Given the description of an element on the screen output the (x, y) to click on. 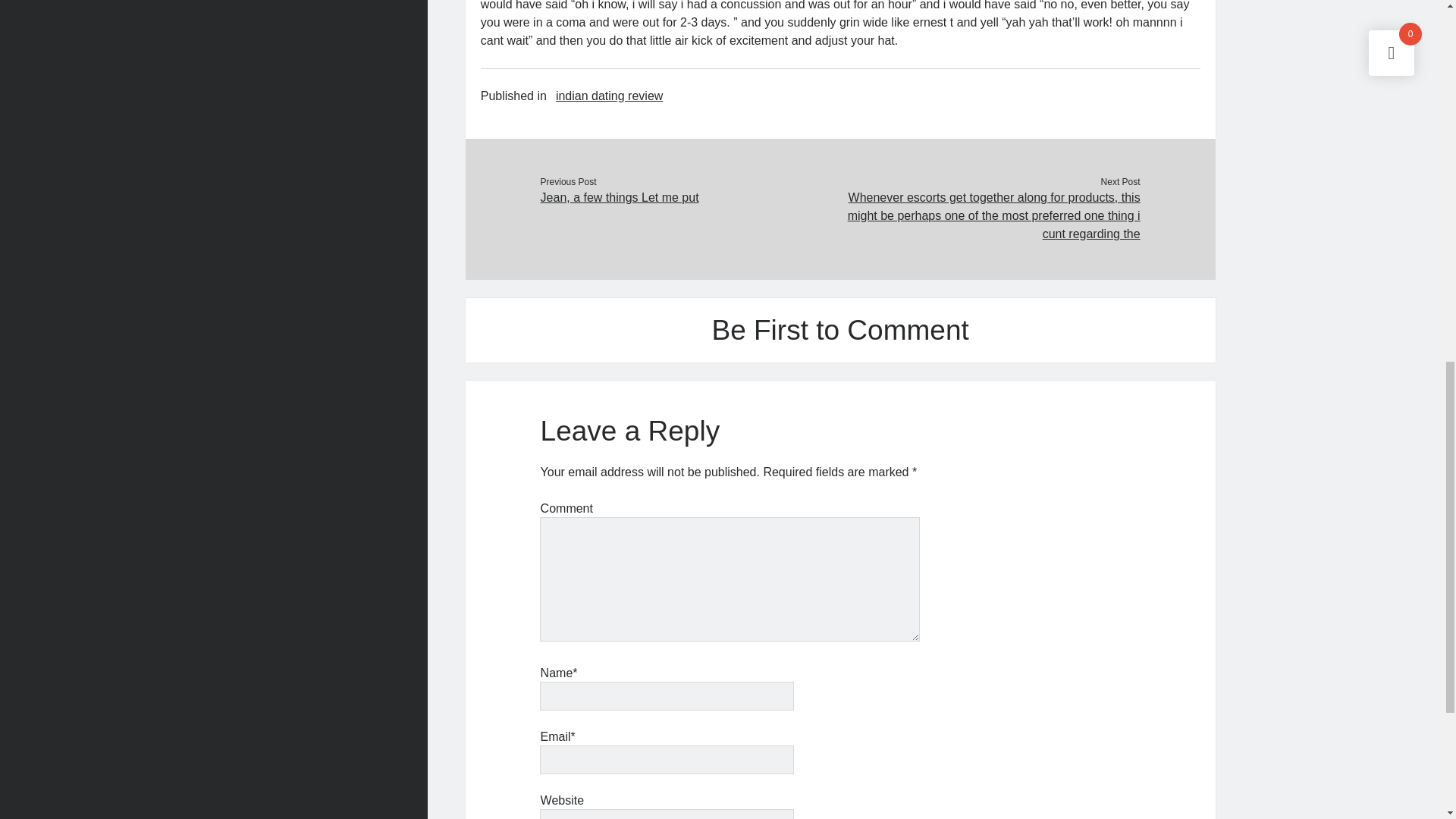
Jean, a few things Let me put (690, 198)
indian dating review (609, 95)
View all posts in indian dating review (609, 95)
